Given the description of an element on the screen output the (x, y) to click on. 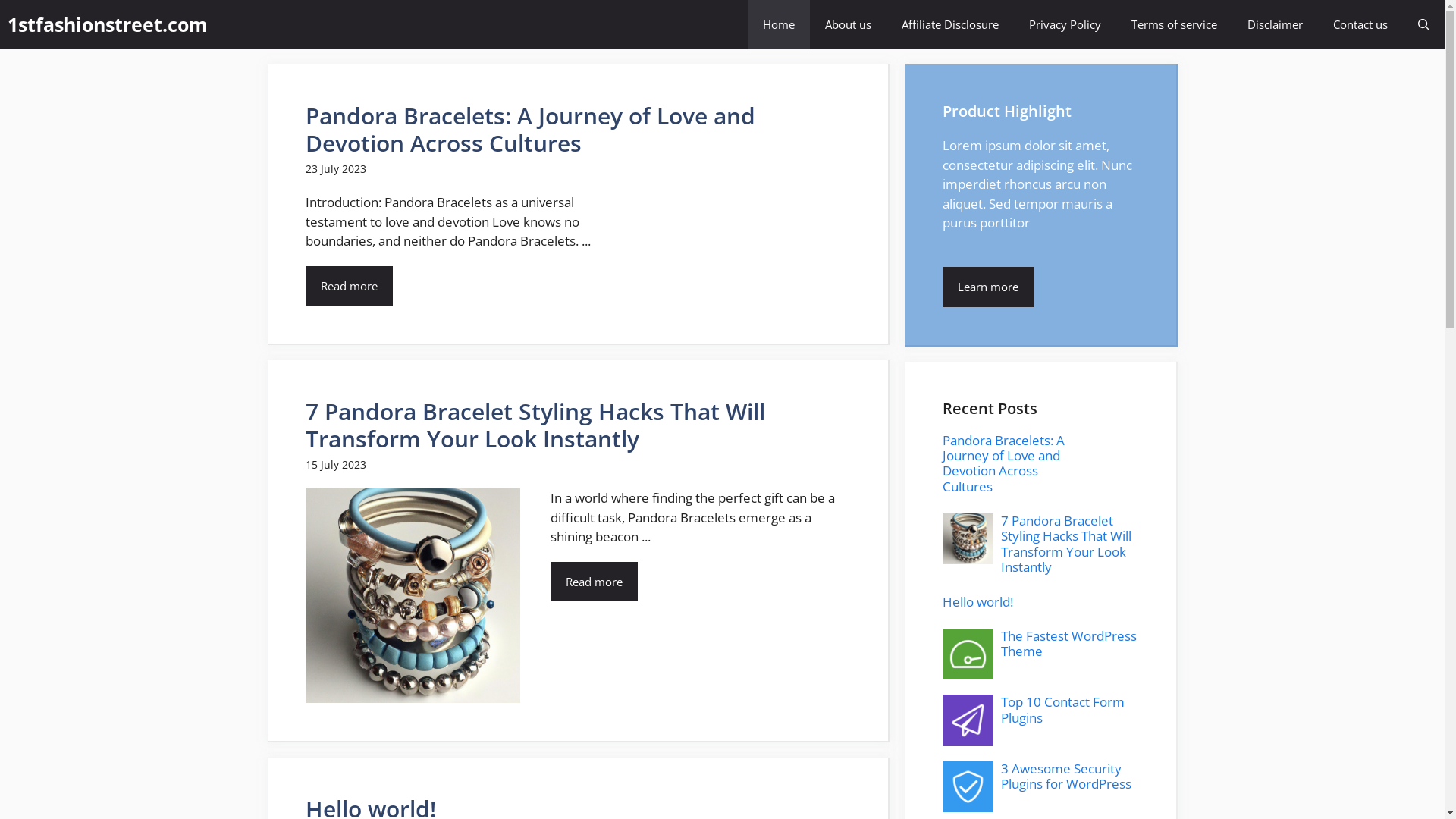
Top 10 Contact Form Plugins Element type: text (1062, 709)
Read more Element type: text (593, 581)
Disclaimer Element type: text (1274, 24)
About us Element type: text (847, 24)
Terms of service Element type: text (1174, 24)
Home Element type: text (778, 24)
Affiliate Disclosure Element type: text (949, 24)
3 Awesome Security Plugins for WordPress Element type: text (1066, 775)
Hello world! Element type: text (976, 601)
Learn more Element type: text (986, 286)
1stfashionstreet.com Element type: text (107, 24)
Contact us Element type: text (1359, 24)
Privacy Policy Element type: text (1064, 24)
Read more Element type: text (348, 285)
The Fastest WordPress Theme Element type: text (1068, 643)
